Given the description of an element on the screen output the (x, y) to click on. 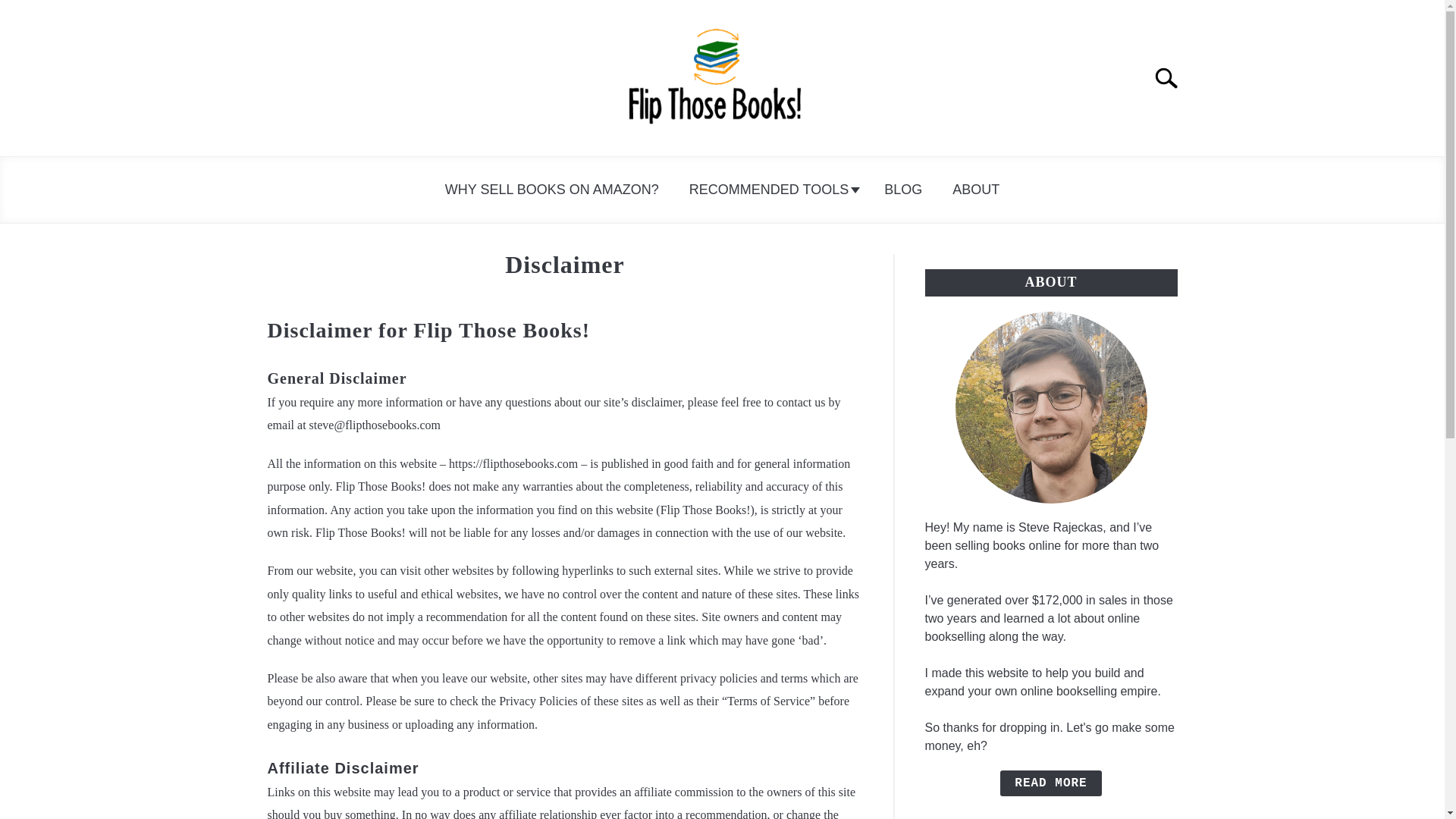
RECOMMENDED TOOLS (771, 189)
Search (1172, 77)
BLOG (903, 189)
WHY SELL BOOKS ON AMAZON? (551, 189)
ABOUT (975, 189)
READ MORE (1050, 783)
